Given the description of an element on the screen output the (x, y) to click on. 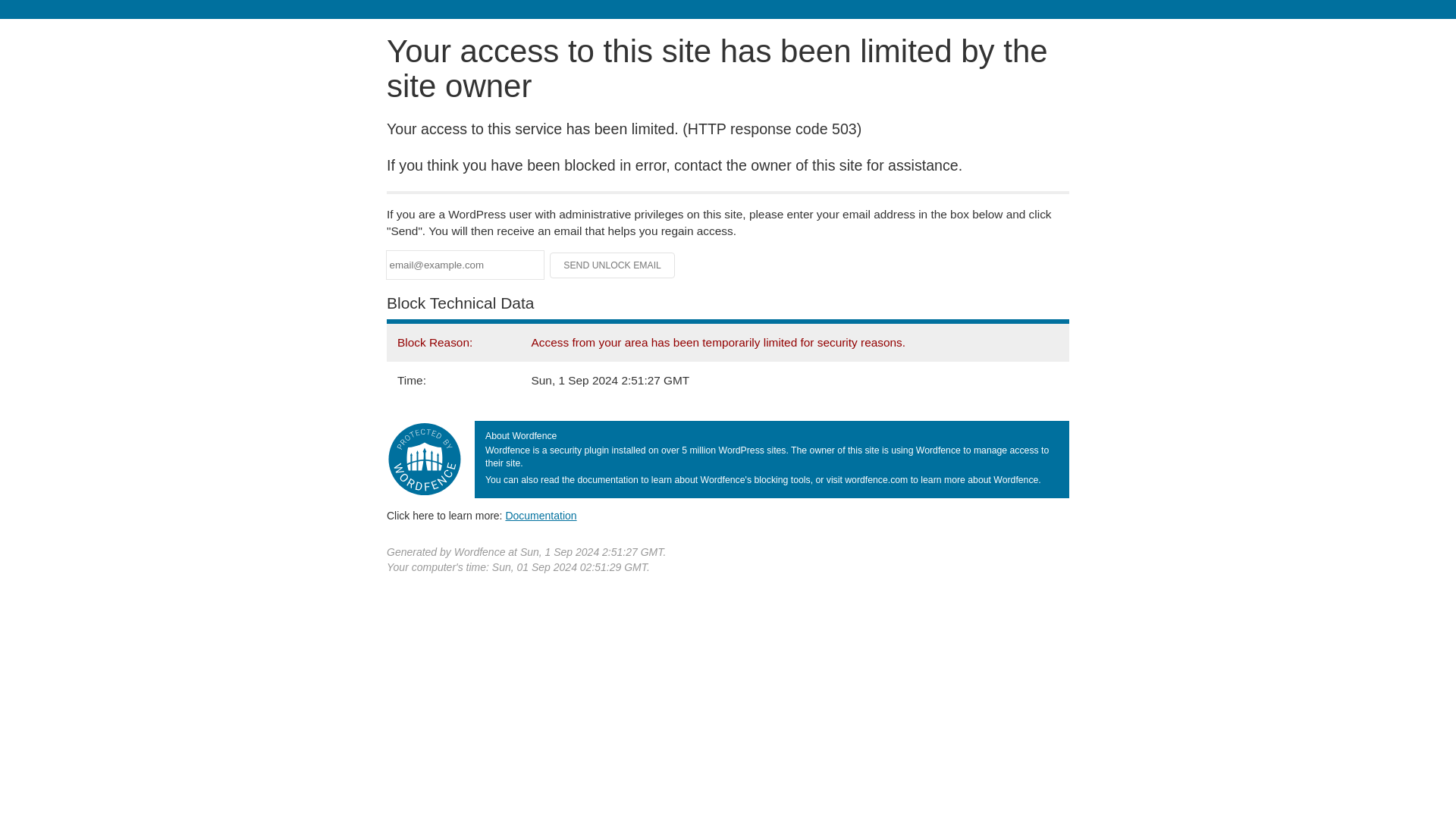
Send Unlock Email (612, 265)
Send Unlock Email (612, 265)
Documentation (540, 515)
